Given the description of an element on the screen output the (x, y) to click on. 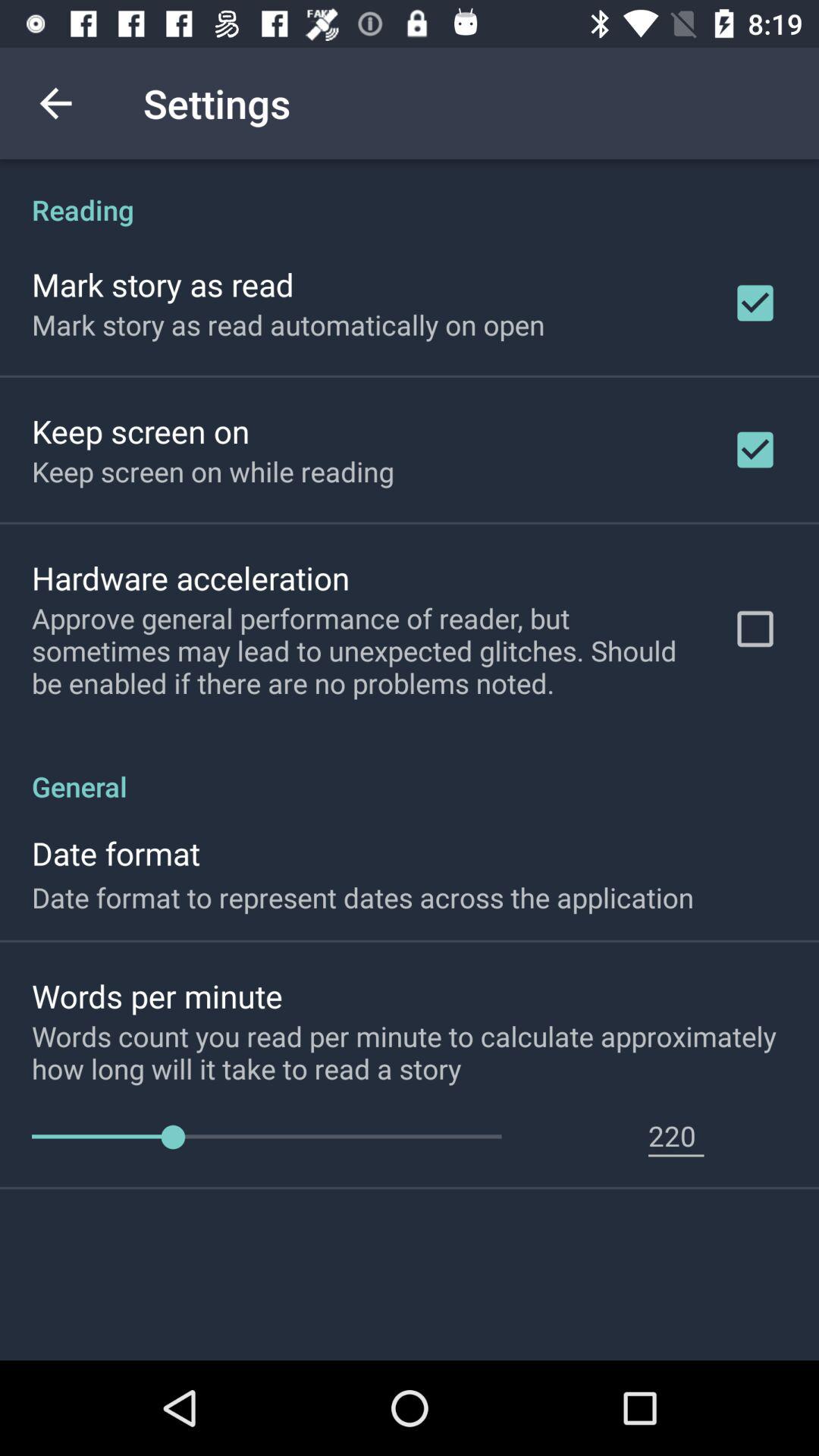
press the item next to settings (55, 103)
